Given the description of an element on the screen output the (x, y) to click on. 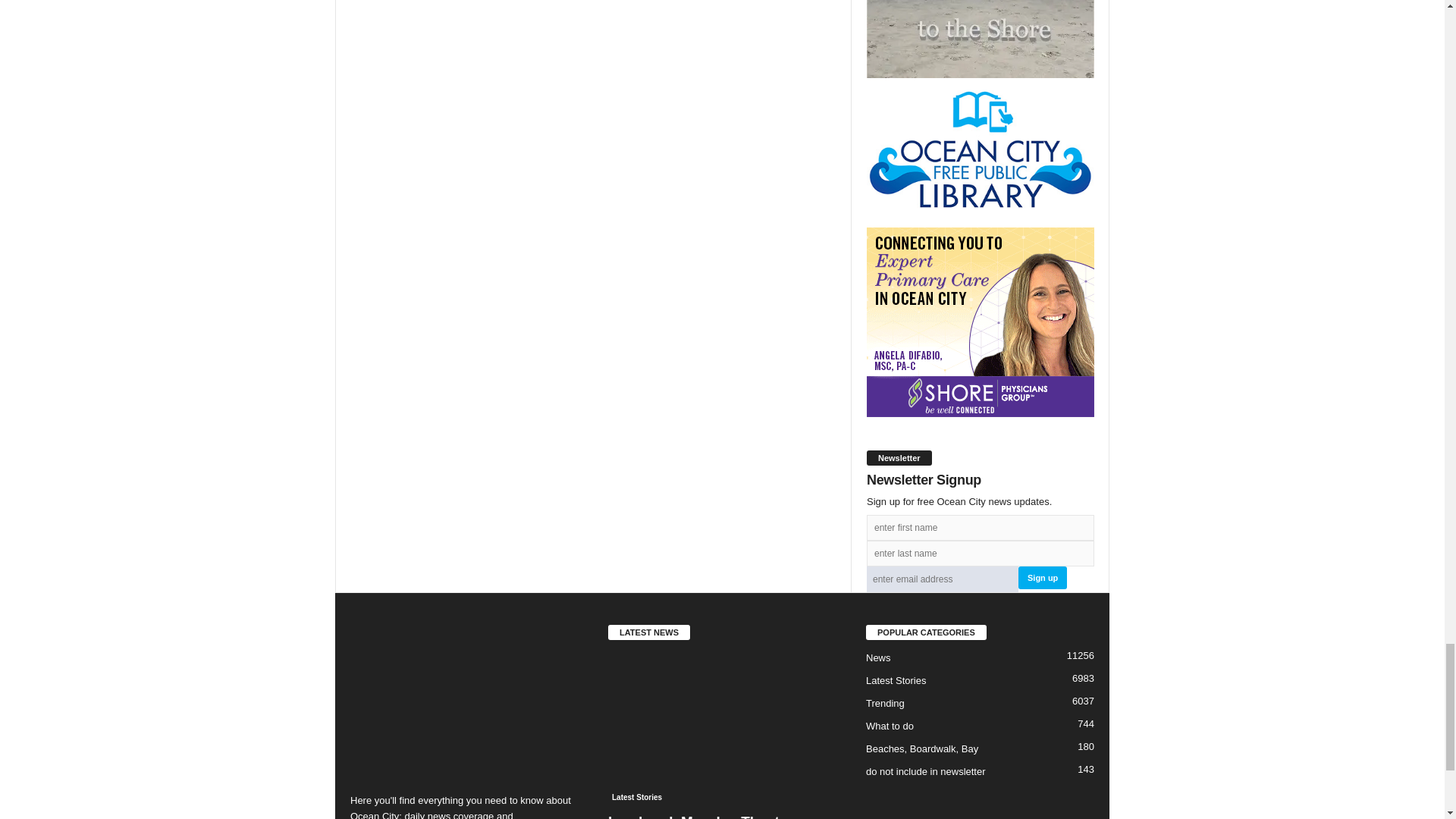
Sign up (1042, 577)
